Given the description of an element on the screen output the (x, y) to click on. 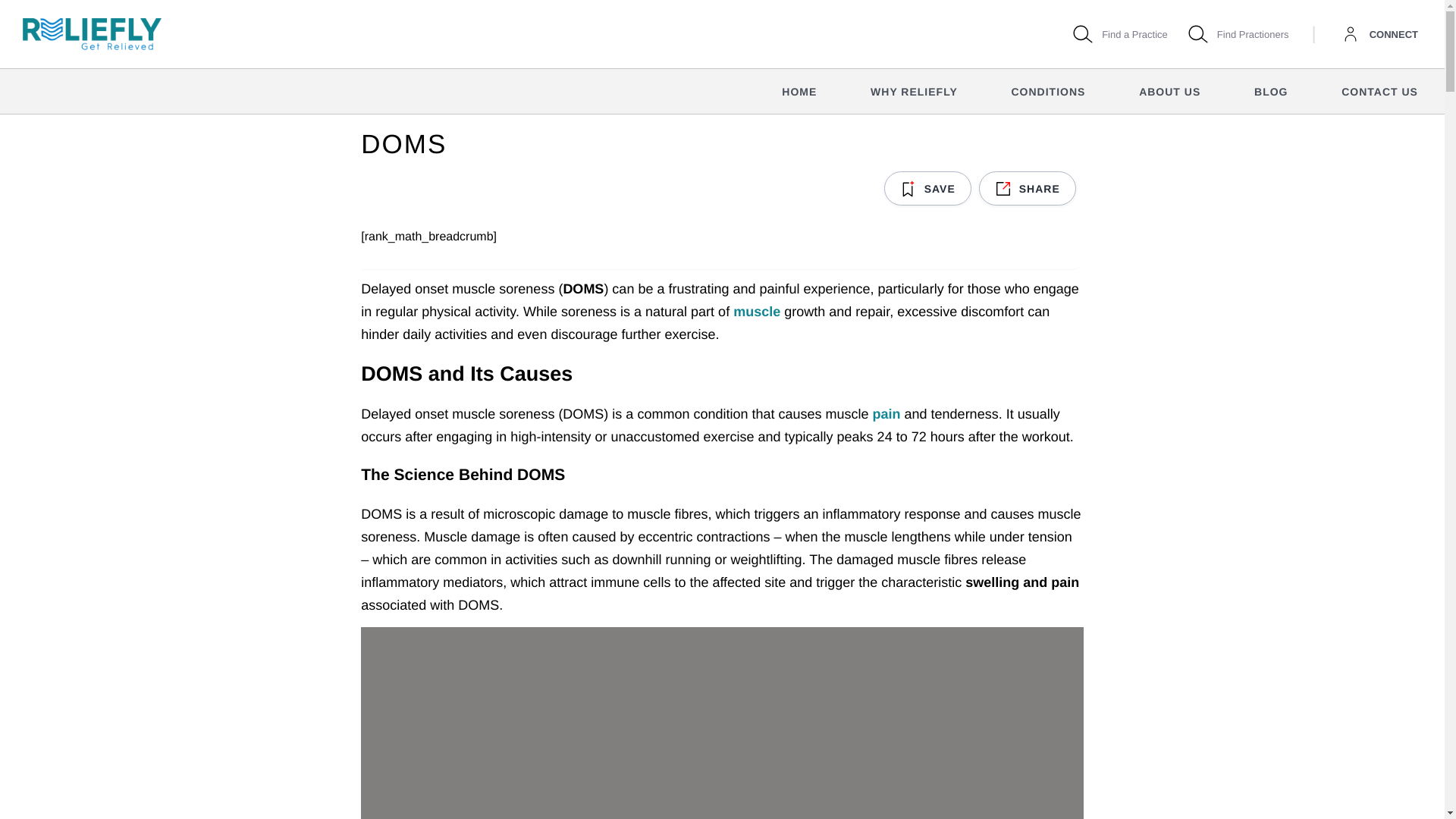
Find Practioners (1099, 91)
CONNECT (1235, 33)
Find a Practice (1377, 34)
